Given the description of an element on the screen output the (x, y) to click on. 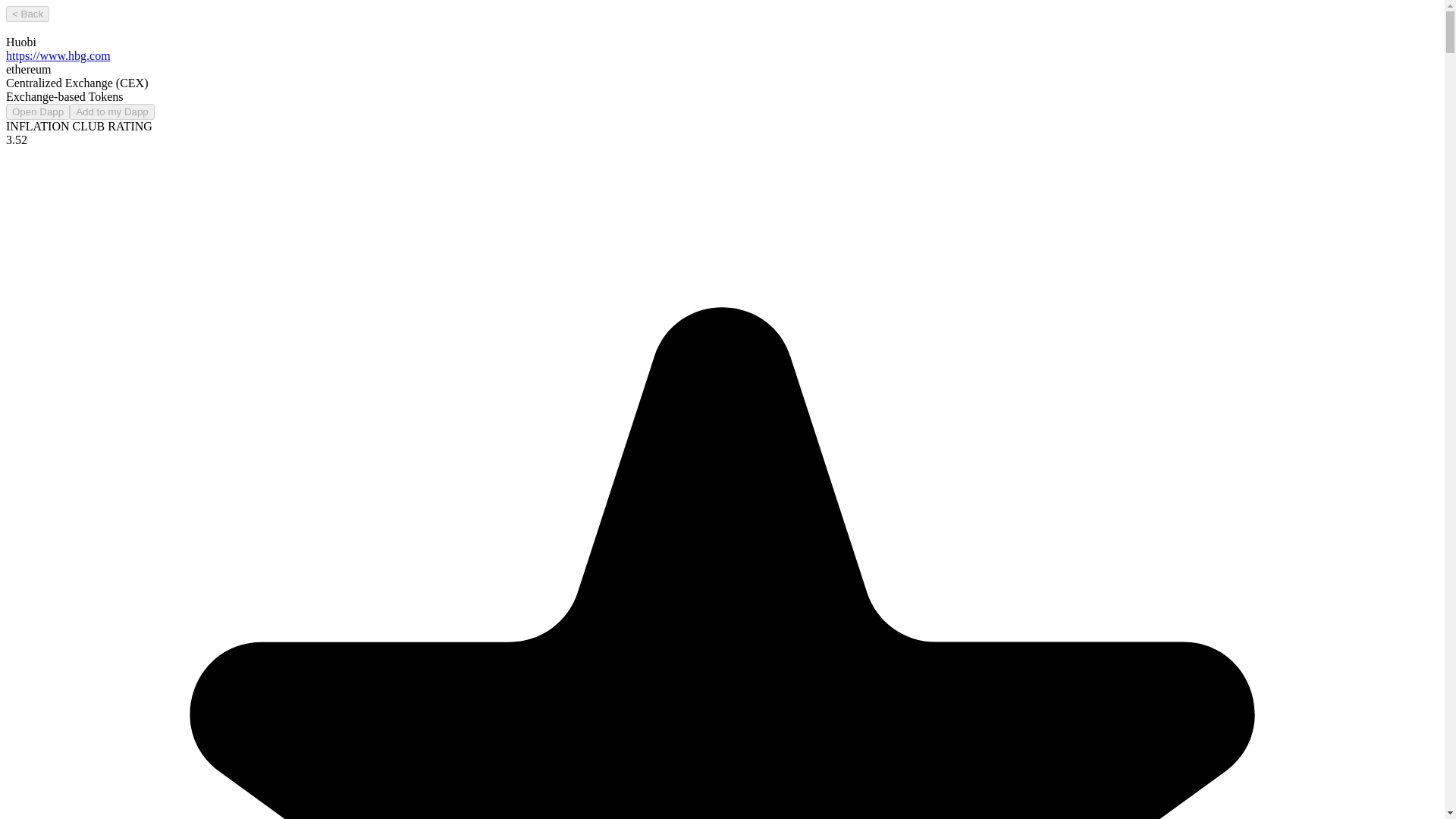
Open Dapp (37, 110)
Add to my Dapp (111, 111)
Open Dapp (37, 111)
